Given the description of an element on the screen output the (x, y) to click on. 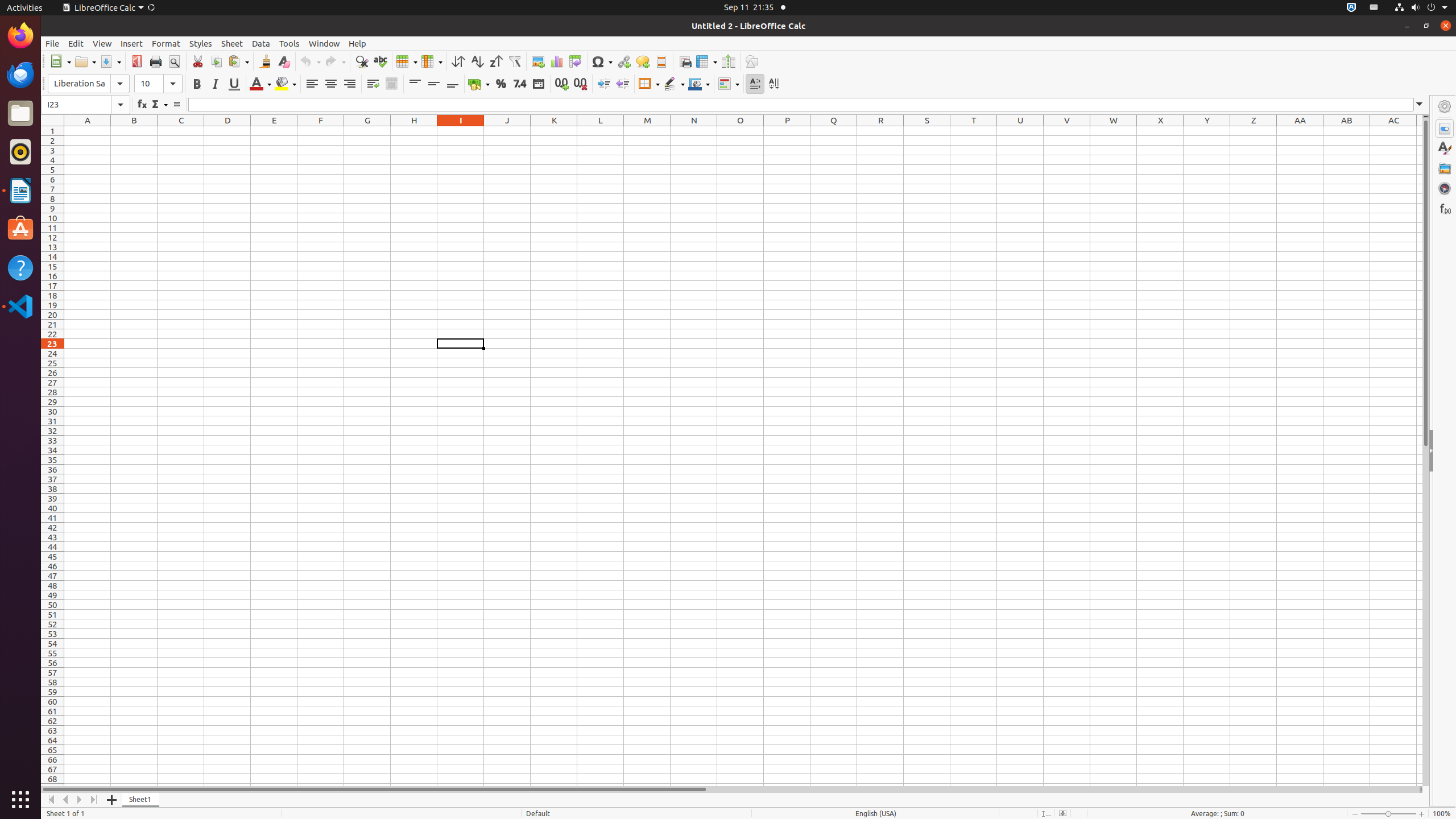
F1 Element type: table-cell (320, 130)
O1 Element type: table-cell (740, 130)
P1 Element type: table-cell (786, 130)
Input line Element type: panel (800, 104)
AutoFilter Element type: push-button (514, 61)
